Given the description of an element on the screen output the (x, y) to click on. 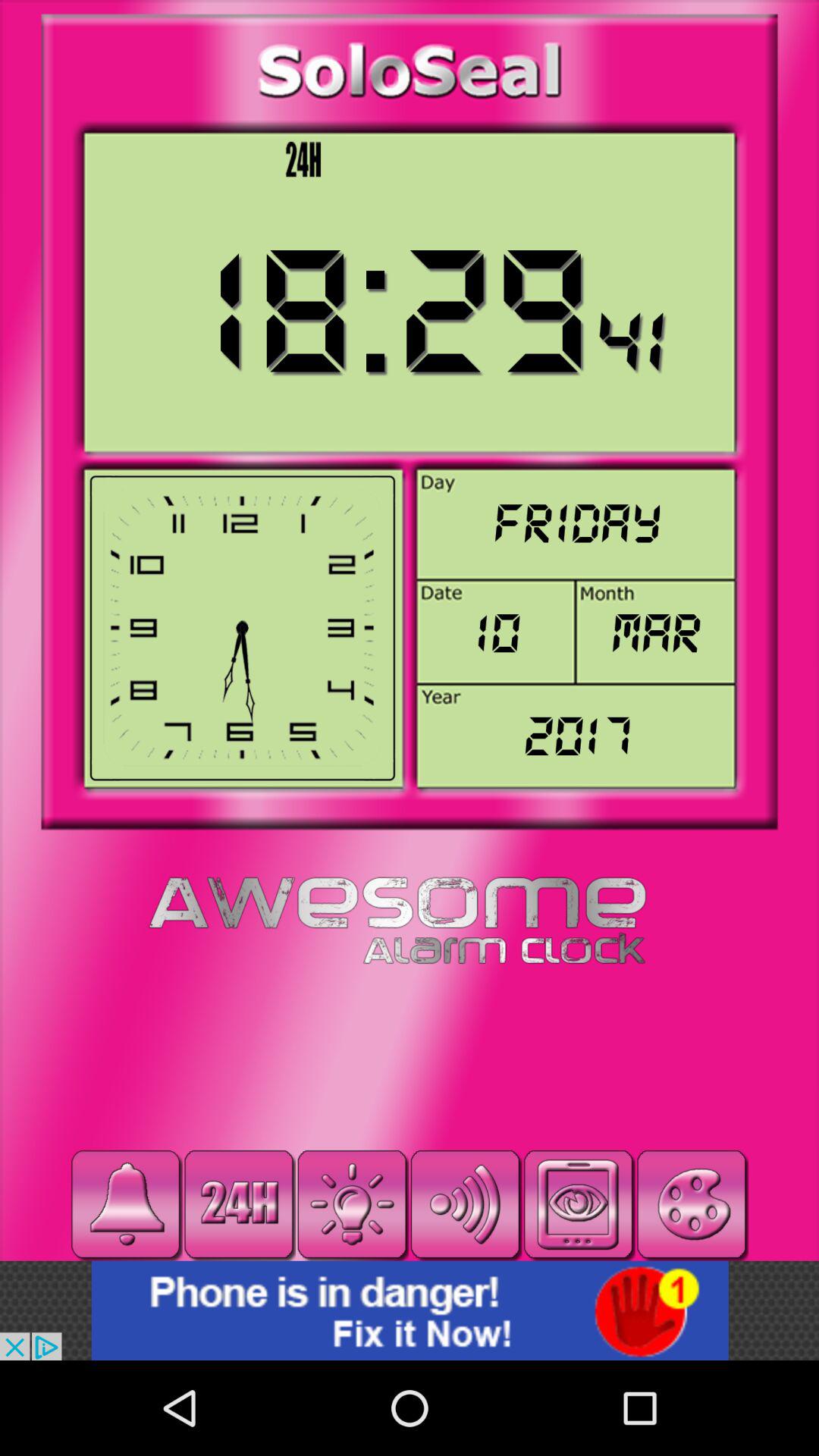
change brightness (351, 1203)
